Given the description of an element on the screen output the (x, y) to click on. 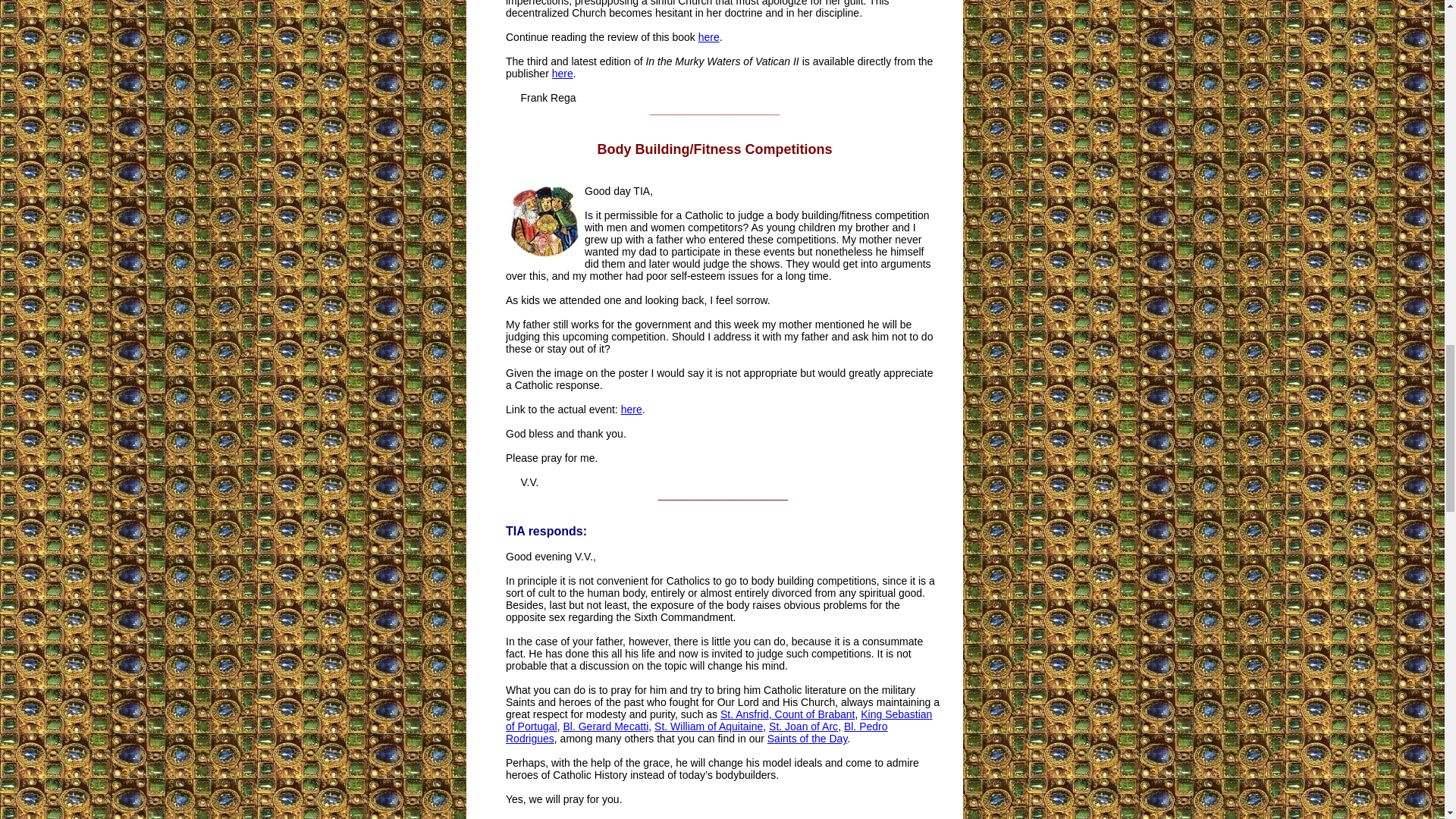
Bl. Pedro Rodrigues (696, 732)
St. William of Aquitaine (707, 726)
here (562, 73)
King Sebastian of Portugal (718, 720)
St. Joan of Arc (803, 726)
here (631, 409)
Bl. Gerard Mecatti (604, 726)
St. Ansfrid, Count of Brabant (787, 714)
here (708, 37)
Saints of the Day (807, 738)
